Given the description of an element on the screen output the (x, y) to click on. 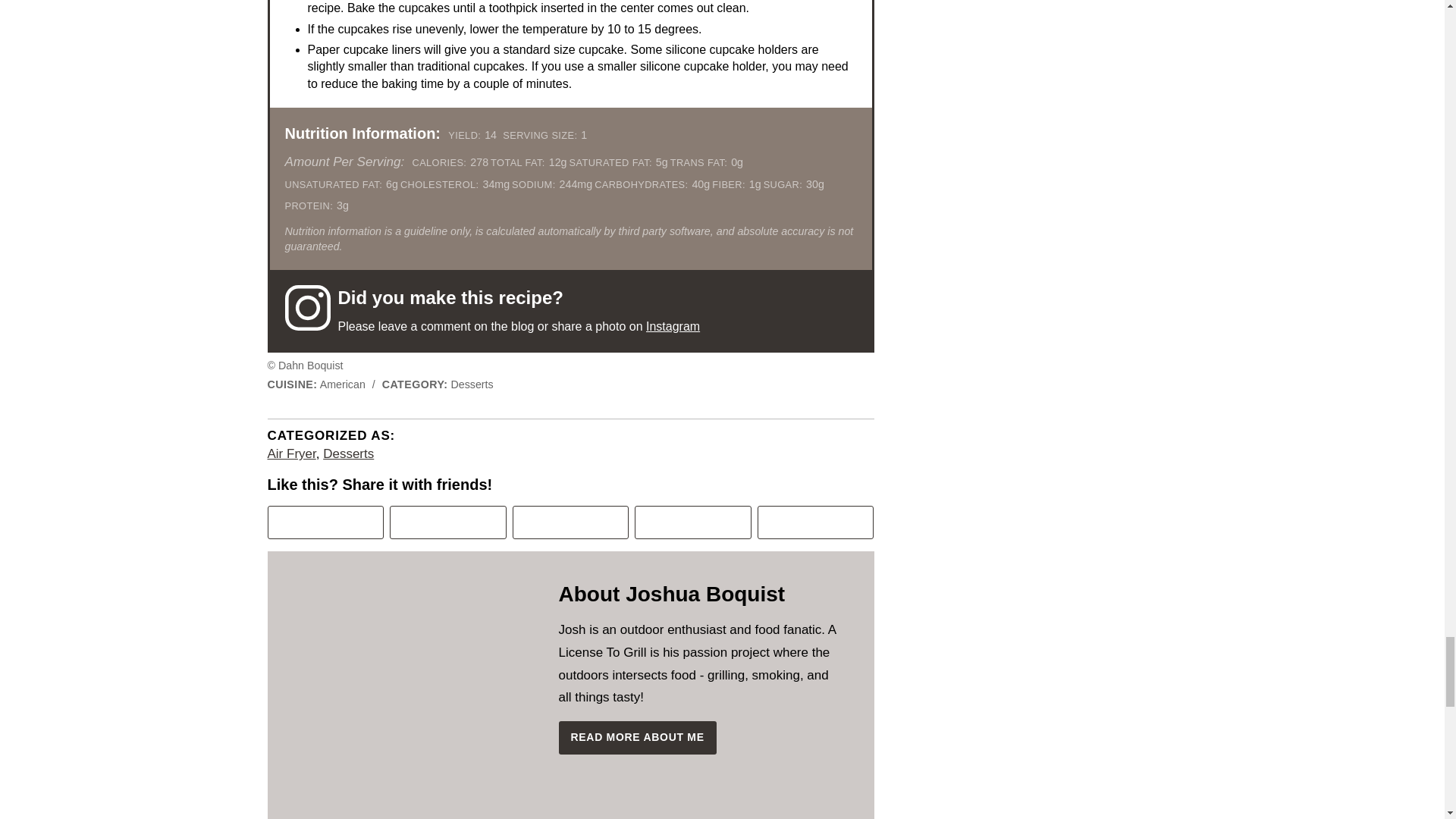
Share on Yummly (692, 522)
Share on Pinterest (325, 522)
Share via Email (816, 522)
Share on Facebook (448, 522)
Share on Twitter (570, 522)
